Given the description of an element on the screen output the (x, y) to click on. 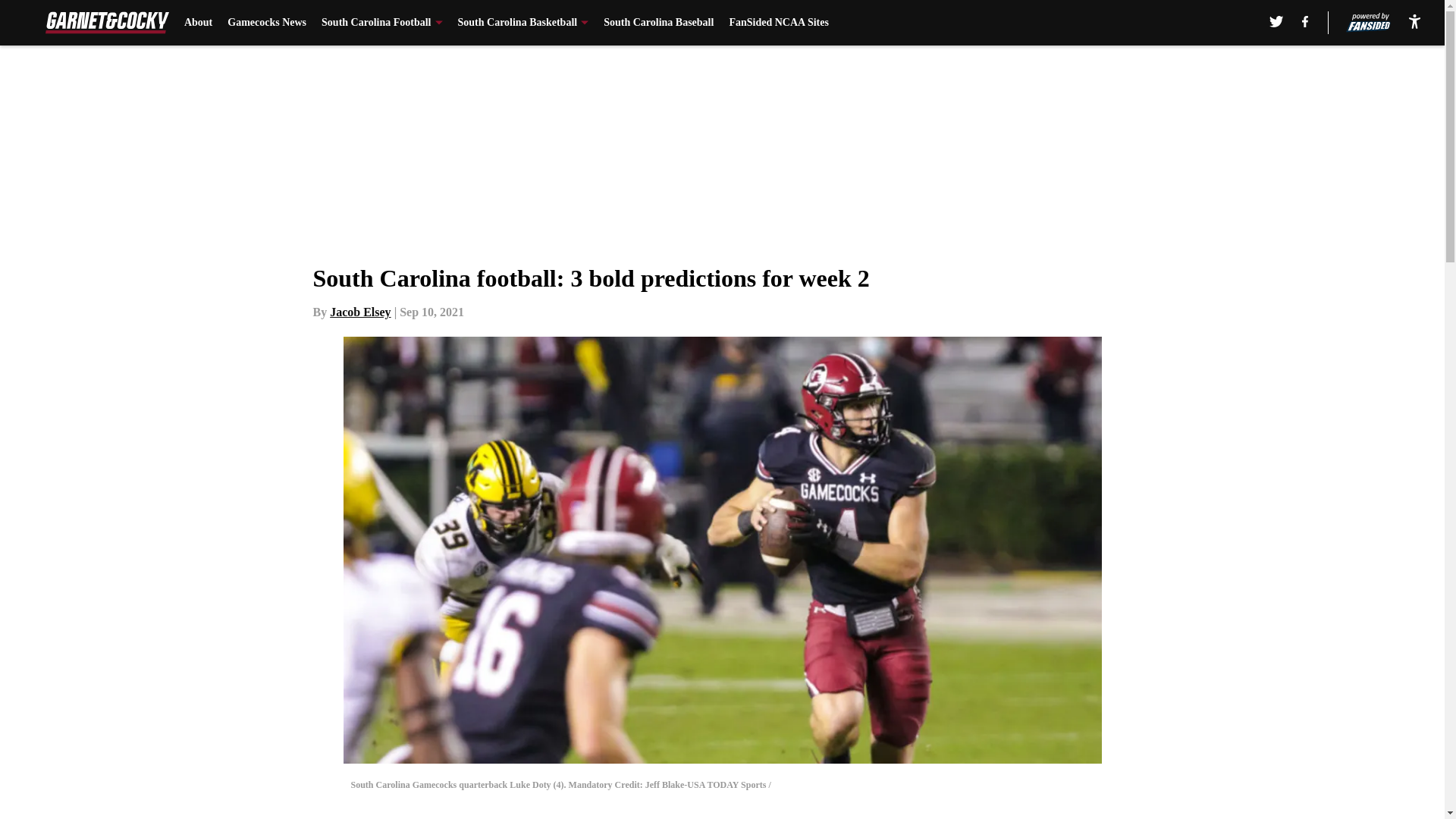
FanSided NCAA Sites (778, 22)
Gamecocks News (266, 22)
South Carolina Baseball (658, 22)
About (198, 22)
Jacob Elsey (360, 311)
